Given the description of an element on the screen output the (x, y) to click on. 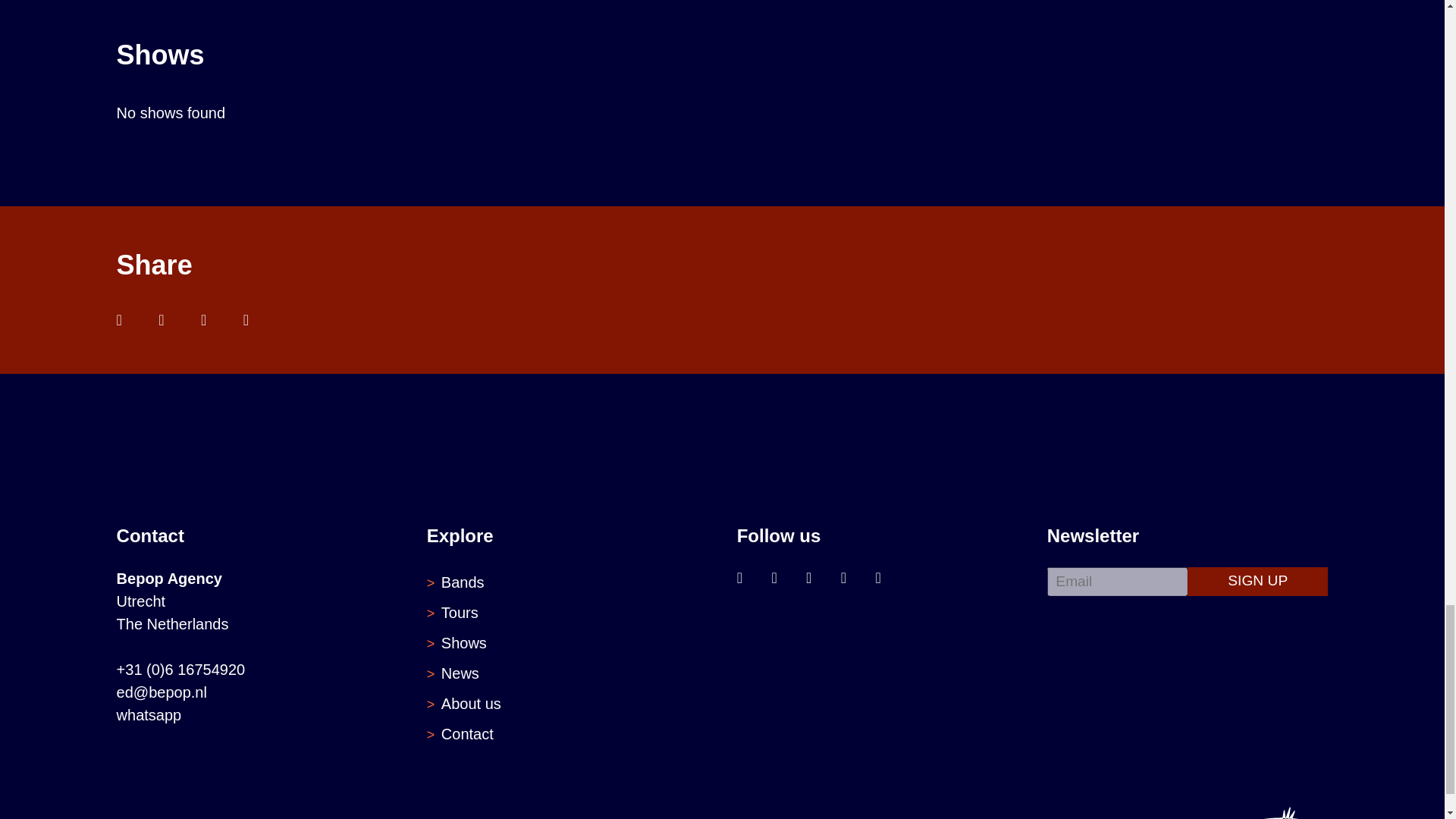
Bands (462, 582)
News (460, 673)
Shows (463, 642)
whatsapp (149, 714)
Tours (460, 612)
About us (470, 703)
Contact (467, 733)
